Given the description of an element on the screen output the (x, y) to click on. 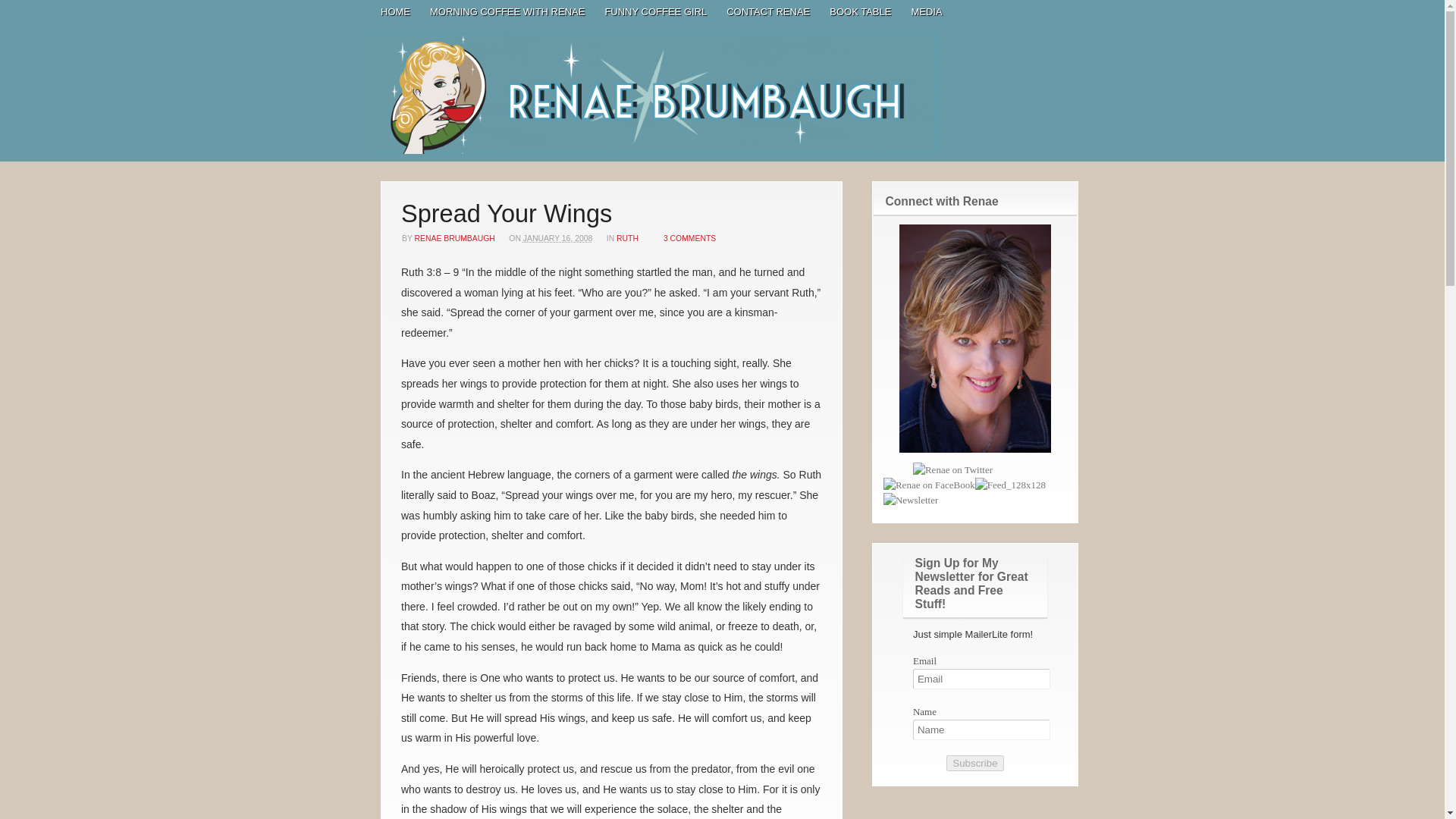
CONTACT RENAE (767, 12)
MORNING COFFEE WITH RENAE (507, 12)
HOME (395, 12)
Subscribe (974, 763)
RSS (1075, 11)
Renae on FaceBook (929, 485)
MEDIA (926, 12)
Posts by Renae Brumbaugh (454, 238)
The Funny Coffee Girl (650, 92)
FUNNY COFFEE GIRL (655, 12)
Follow Renae on Twitter (937, 469)
RENAE BRUMBAUGH (454, 238)
Renae on Twitter (952, 469)
BOOK TABLE (860, 12)
2008-01-16T23:32:25-0600 (557, 238)
